Given the description of an element on the screen output the (x, y) to click on. 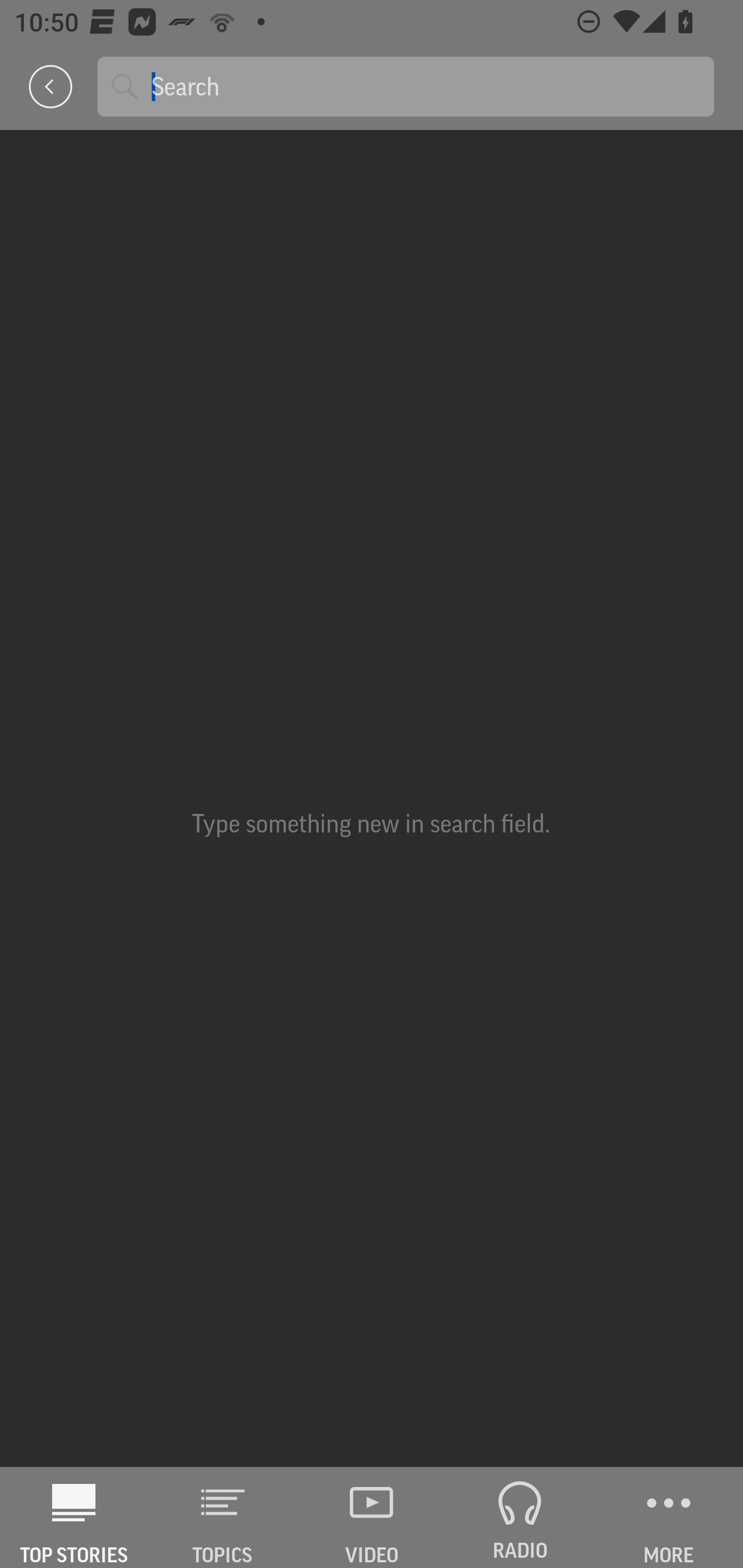
Search (425, 86)
AP News TOP STORIES (74, 1517)
TOPICS (222, 1517)
VIDEO (371, 1517)
RADIO (519, 1517)
MORE (668, 1517)
